Given the description of an element on the screen output the (x, y) to click on. 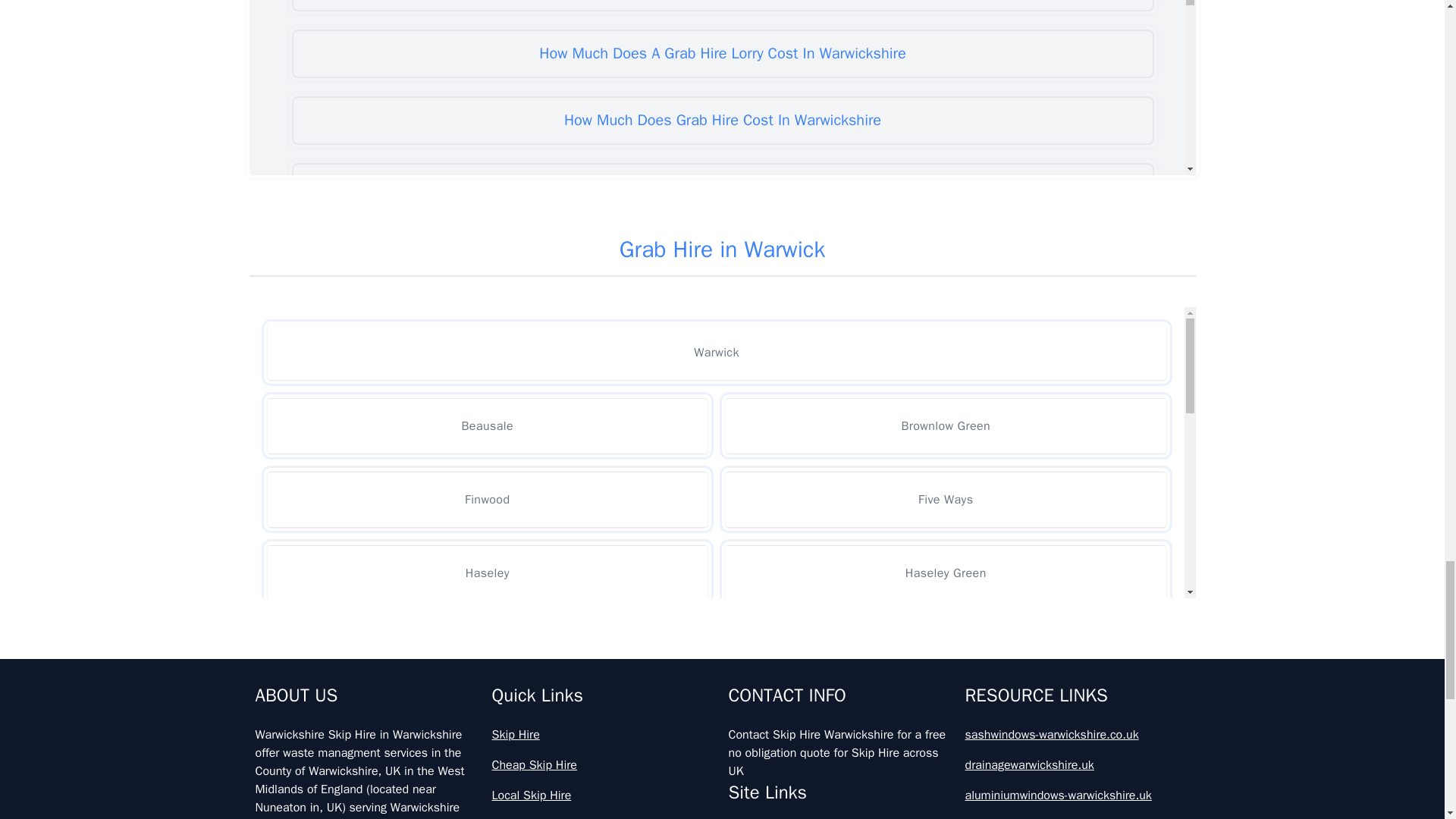
sashwindows-warwickshire.co.uk (1076, 734)
How Much Does A Grab Hire Lorry Cost In Warwickshire (722, 53)
How Much Is Grab Hire In Warwickshire (722, 453)
How Much Is A Grab Hire In Warwickshire (722, 320)
Is Grab Hire Cheaper Than A Skip In Warwickshire (722, 653)
How Much Does Grab Hire Cost In Warwickshire (722, 120)
aluminiumwindows-warwickshire.uk (1076, 795)
How Much To Hire A Grab Lorry In Warwickshire (722, 587)
How Much Is Grab Lorry Hire In Warwickshire (722, 520)
